Given the description of an element on the screen output the (x, y) to click on. 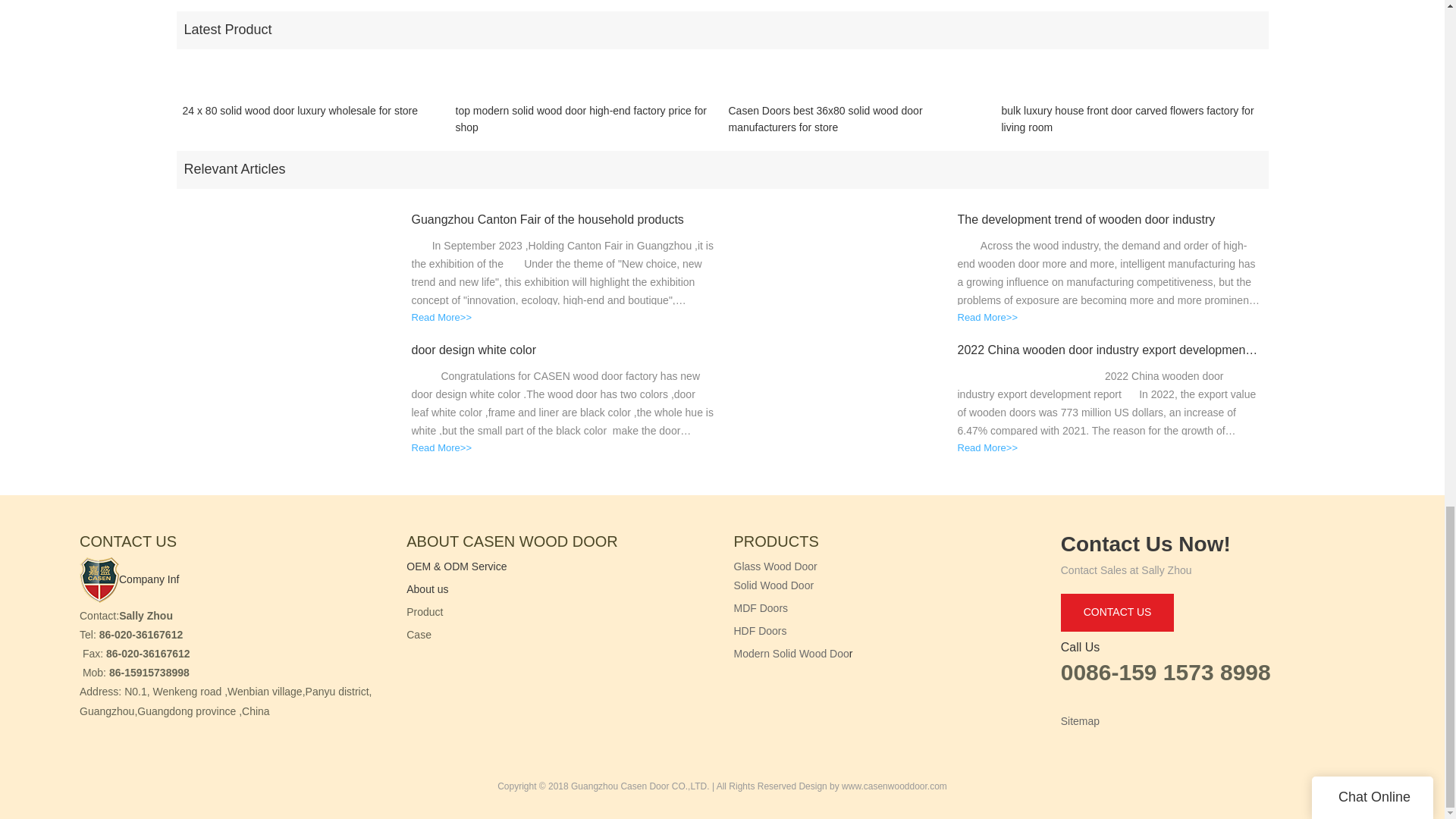
top modern solid wood door high-end factory price for shop (585, 118)
The development trend of wooden door industry (1108, 220)
2022 China wooden door industry export development report (1108, 350)
Guangzhou Canton Fair of the  household products (562, 220)
door design white color (562, 350)
24 x 80 solid wood door luxury wholesale for store (299, 118)
